Given the description of an element on the screen output the (x, y) to click on. 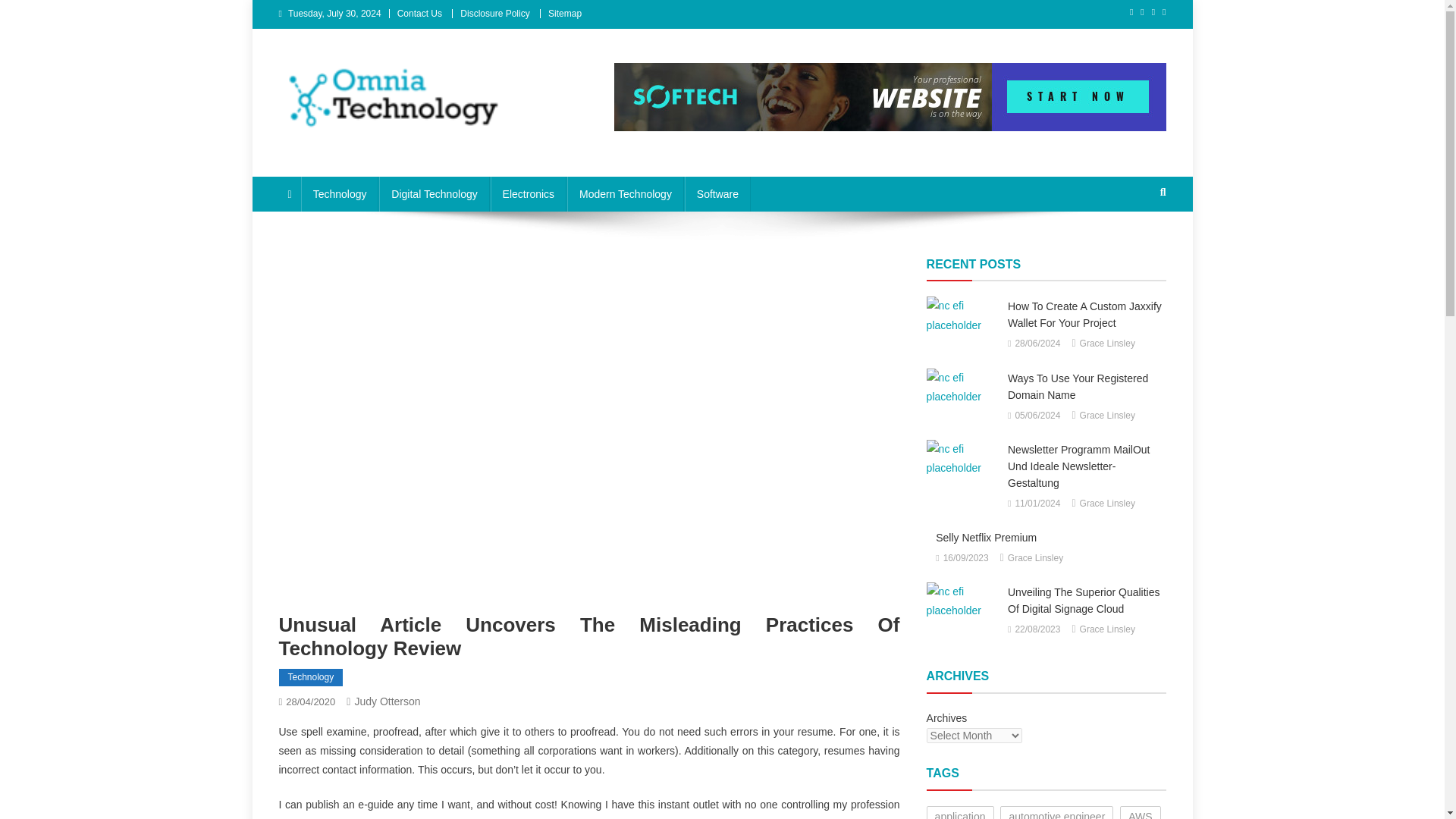
Sitemap (564, 13)
Modern Technology (625, 193)
Newsletter Programm MailOut und ideale Newsletter-Gestaltung (962, 458)
Omnia Technology (387, 153)
Electronics (528, 193)
Technology (311, 678)
Judy Otterson (386, 701)
Ways To Use Your Registered Domain Name (962, 387)
How to Create a Custom Jaxxify Wallet for Your Project (962, 315)
Disclosure Policy (494, 13)
Technology (339, 193)
Unveiling the Superior Qualities of Digital Signage Cloud (962, 600)
Search (1133, 242)
Software (717, 193)
